Given the description of an element on the screen output the (x, y) to click on. 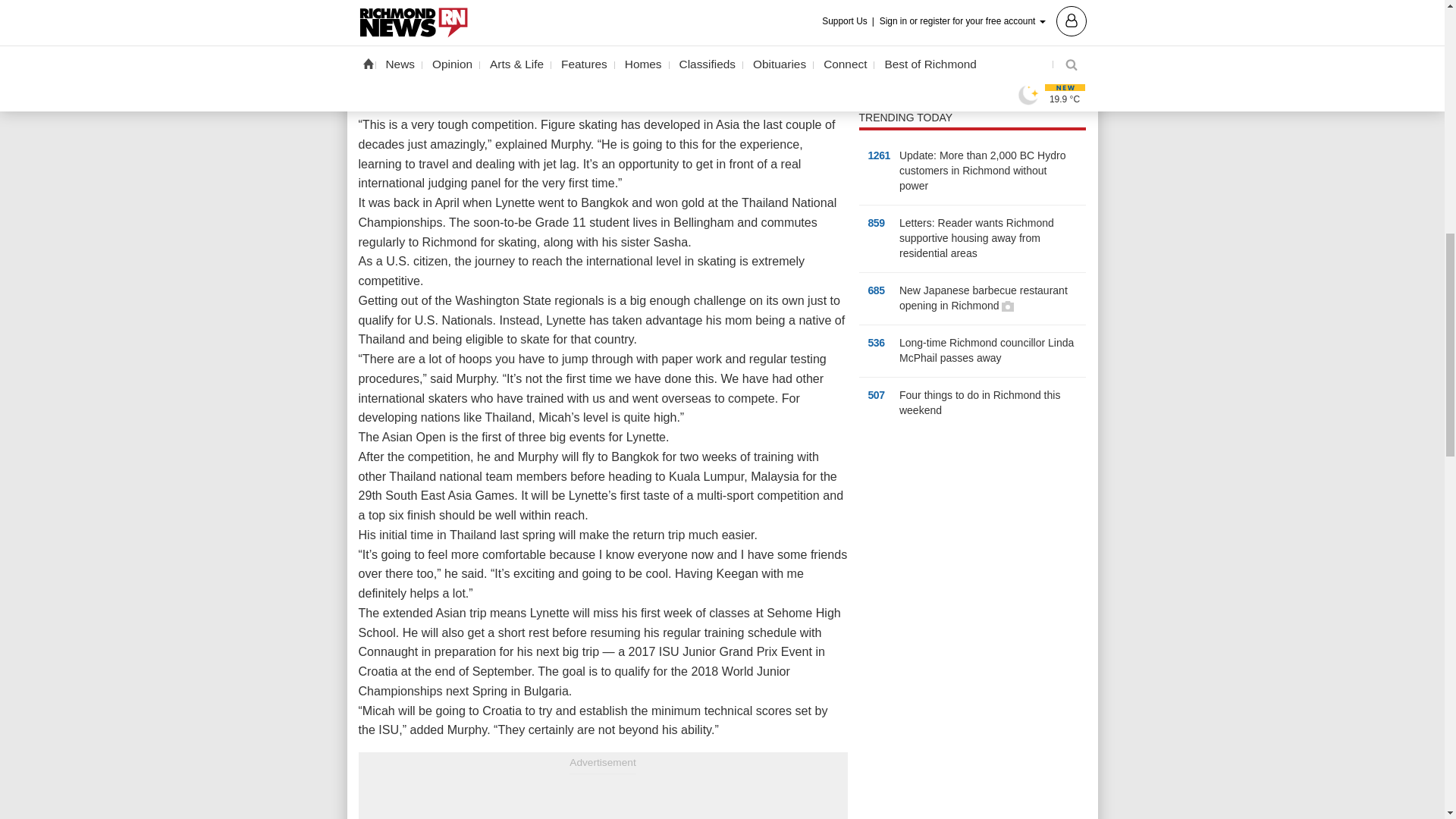
121759 (872, 31)
Has a gallery (1007, 306)
121758 (872, 10)
